Given the description of an element on the screen output the (x, y) to click on. 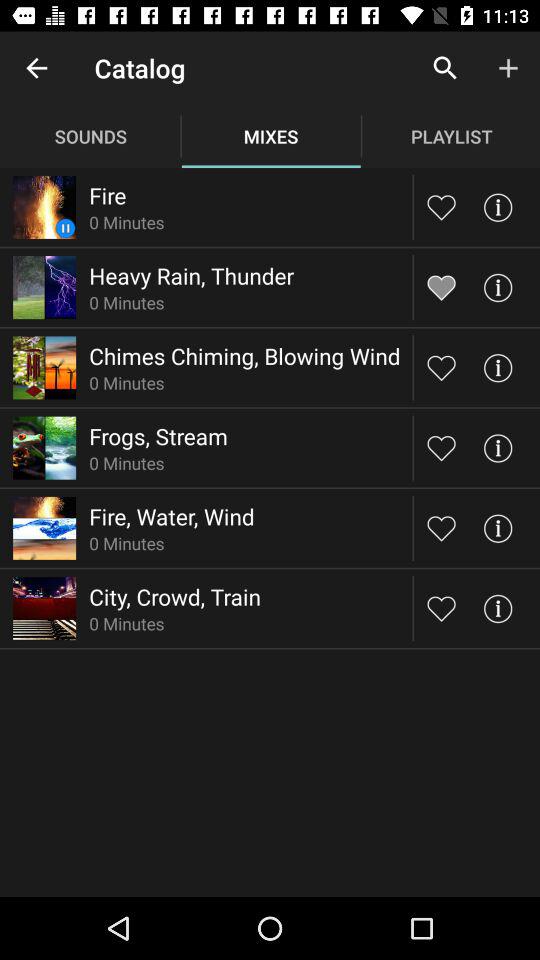
clique para marcar como favorito (441, 287)
